Given the description of an element on the screen output the (x, y) to click on. 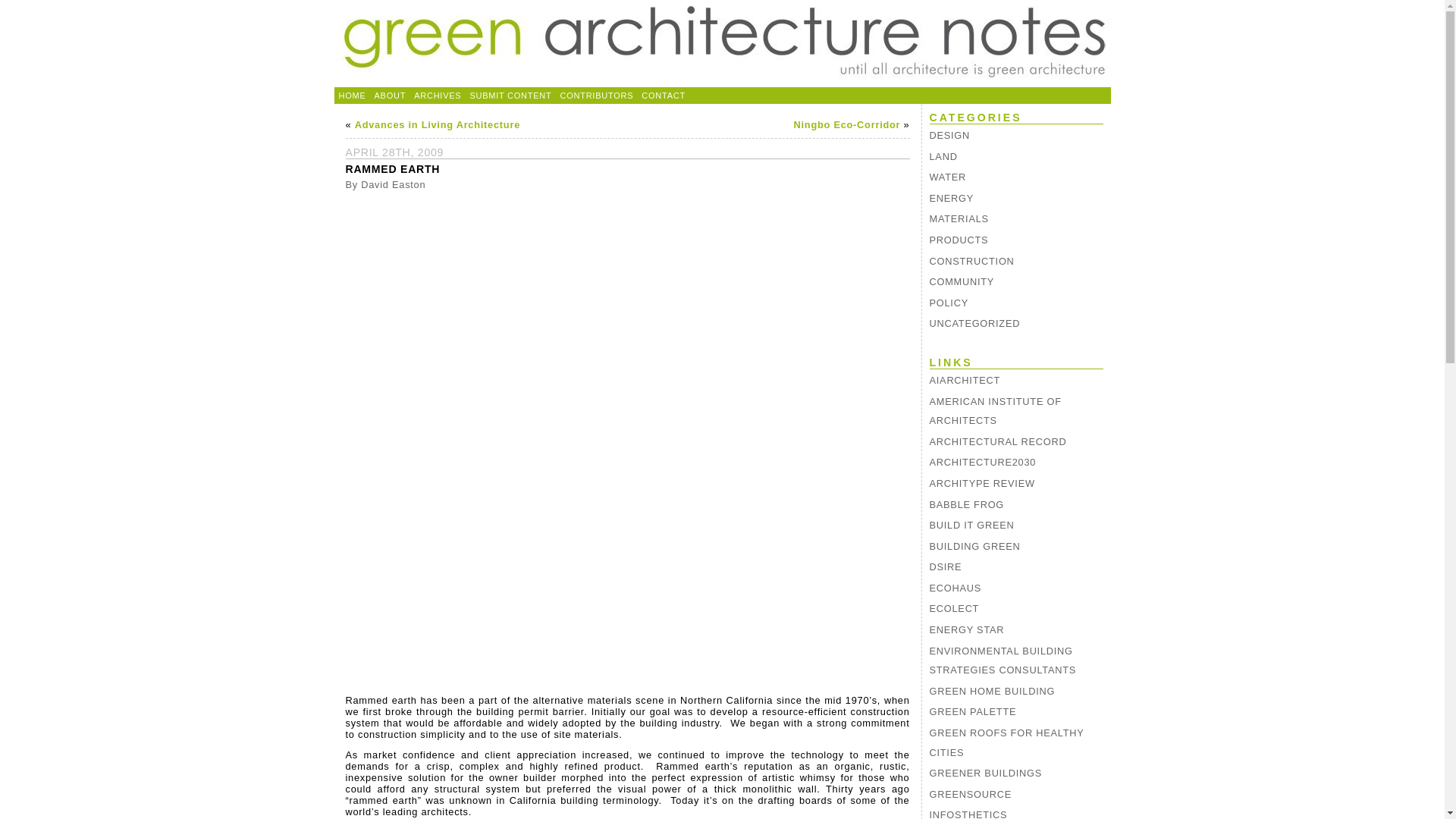
LAND (1016, 157)
ABOUT (389, 95)
POLICY (1016, 302)
ARCHITECTURE2030 (1016, 462)
HOME (351, 95)
AMERICAN INSTITUTE OF ARCHITECTS (1016, 411)
Advances in Living Architecture (437, 124)
ENERGY (1016, 198)
UNCATEGORIZED (1016, 323)
CONTACT (663, 95)
DESIGN (1016, 135)
SUBMIT CONTENT (510, 95)
MATERIALS (1016, 219)
ARCHITECTURAL RECORD (1016, 442)
